Given the description of an element on the screen output the (x, y) to click on. 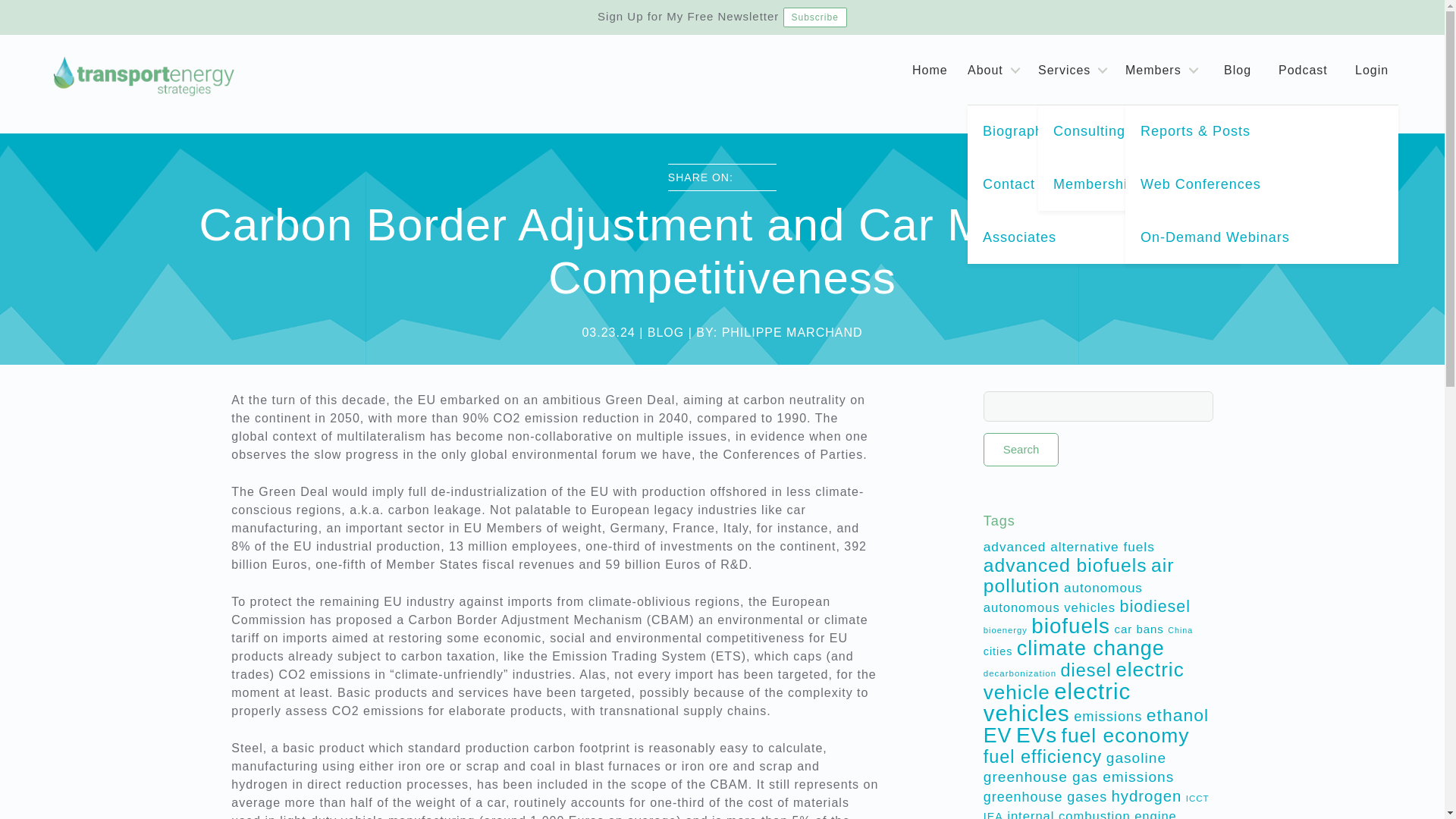
Search (1021, 449)
biofuels (1069, 626)
PHILIPPE MARCHAND (792, 332)
Services (1075, 70)
About (997, 70)
Blog (1237, 70)
Subscribe (815, 17)
Associates (1103, 237)
Members (1164, 70)
Membership Service (1173, 183)
air pollution (1079, 575)
Home (929, 70)
autonomous (1103, 587)
biodiesel (1155, 606)
climate change (1090, 648)
